Given the description of an element on the screen output the (x, y) to click on. 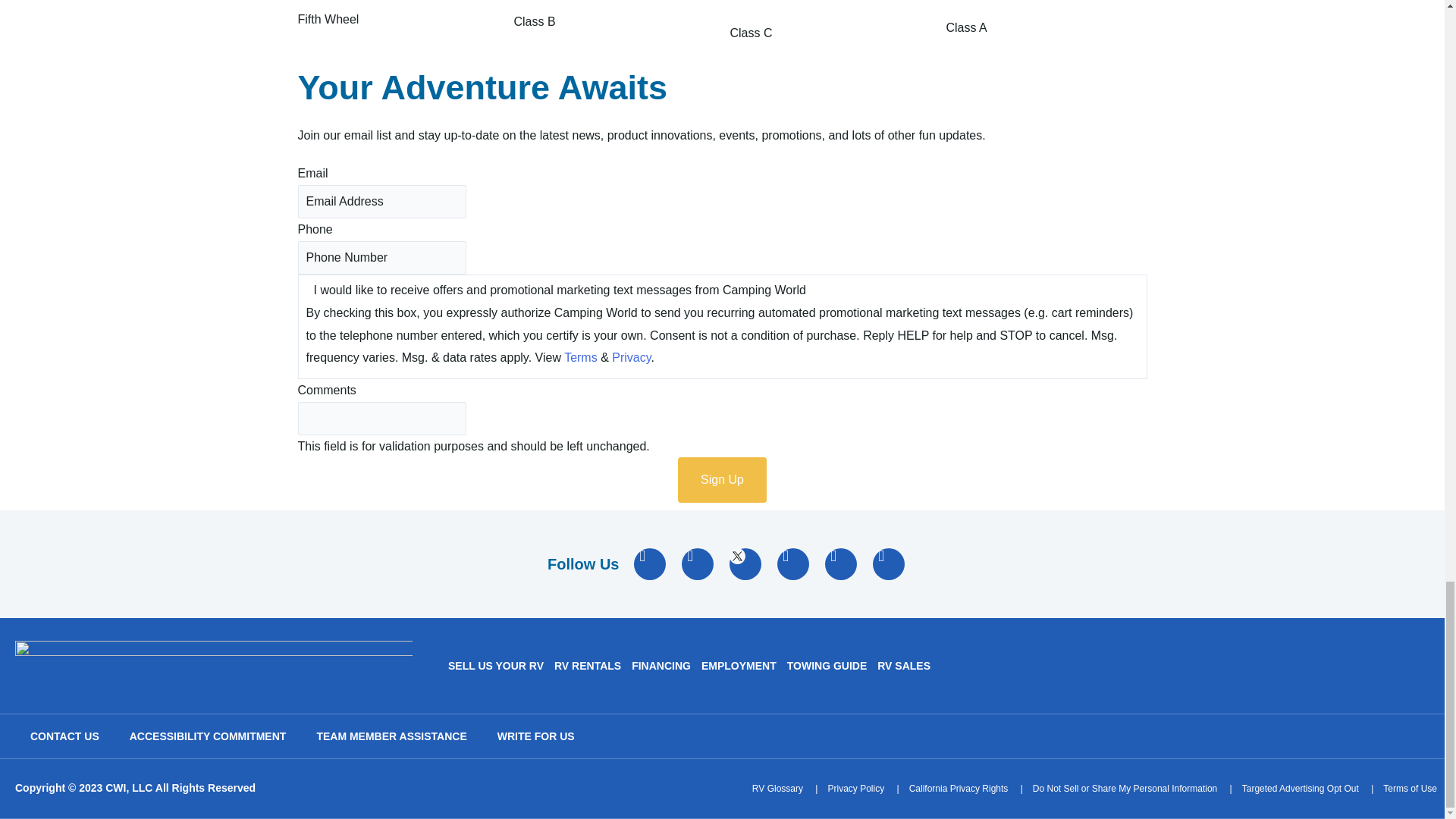
Do Not Sell or Share My Personal Information (1124, 788)
Sign Up (722, 479)
RV Glossary (777, 788)
Privacy Policy (855, 788)
Terms of Use (1410, 788)
CA Privacy Rights (958, 788)
Targeted Advertising Opt Out (1299, 788)
